Given the description of an element on the screen output the (x, y) to click on. 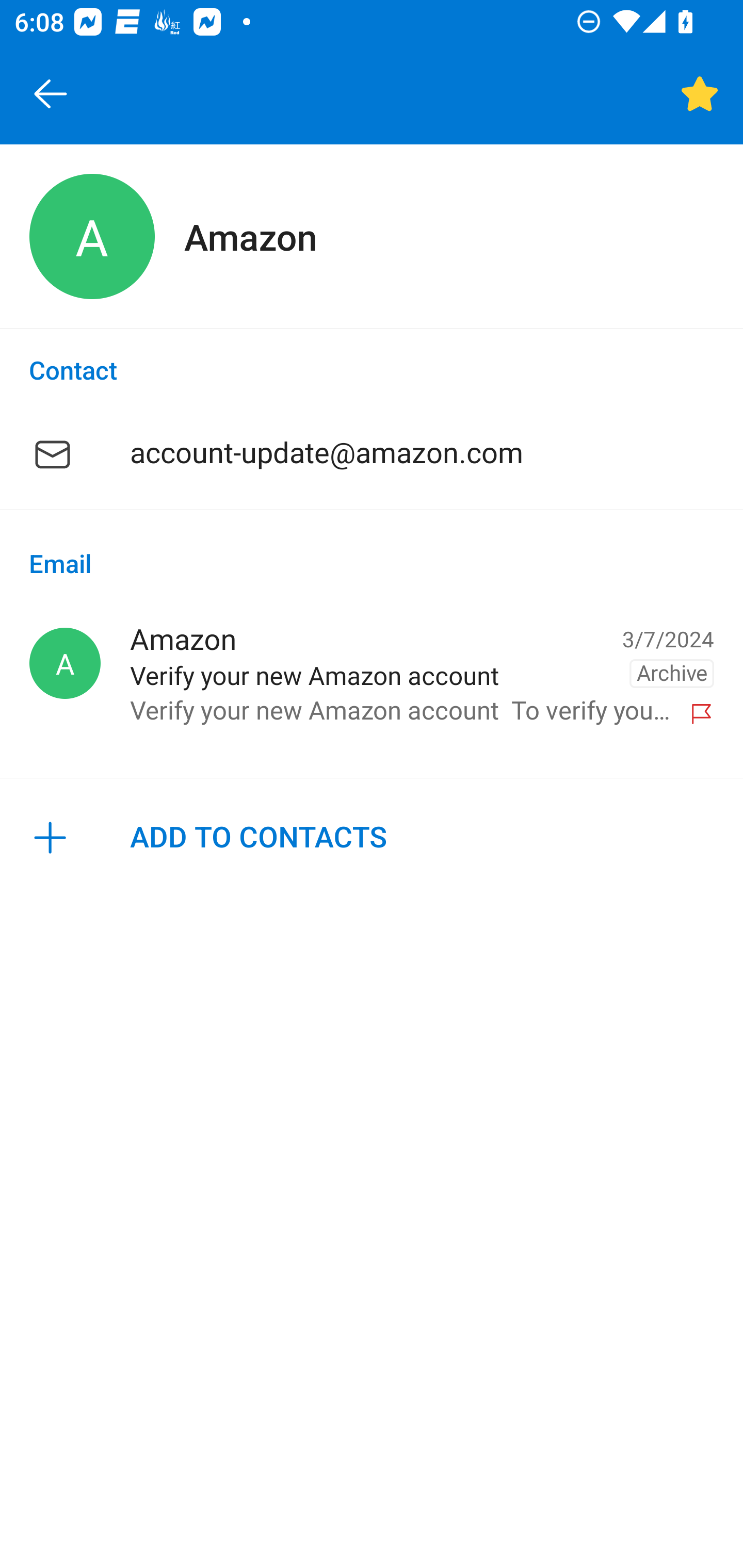
Back (50, 93)
Remove from favorites (699, 93)
ADD TO CONTACTS (371, 837)
